Given the description of an element on the screen output the (x, y) to click on. 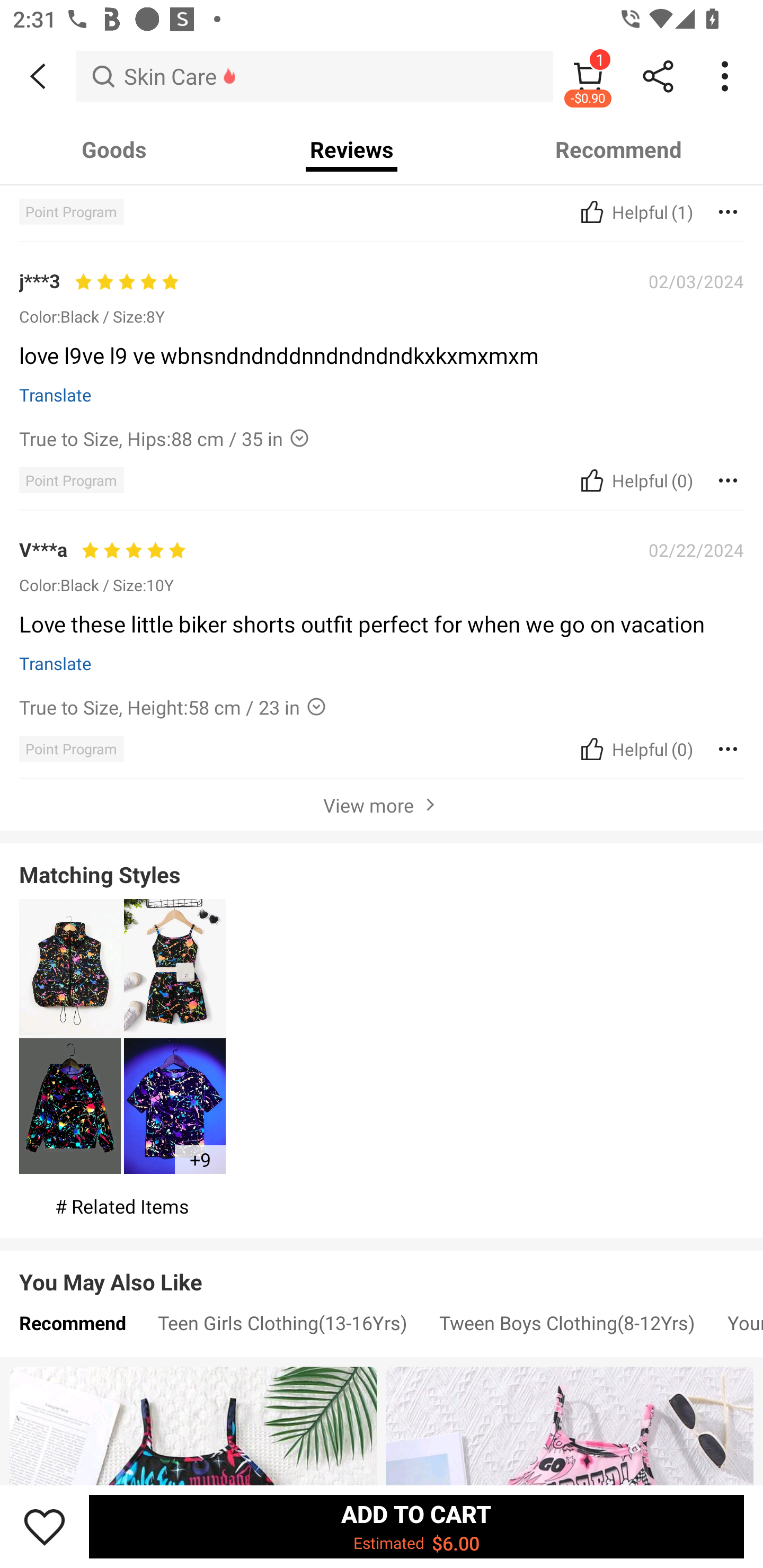
BACK (38, 75)
1 -$0.90 (588, 75)
Skin Care (314, 75)
Goods (114, 149)
Reviews (351, 149)
Recommend (618, 149)
Cancel Helpful Was this article helpful? (1) (634, 211)
Point Program (71, 211)
j***3 Rating5.0 02/03/2024 Color:Black / Size:8Y (381, 297)
love l9ve l9 ve wbnsndndnddnndndndndkxkxmxmxm (374, 361)
Translate (55, 394)
Cancel Helpful Was this article helpful? (0) (634, 480)
Point Program (71, 480)
V***a Rating5.0 02/22/2024 Color:Black / Size:10Y (381, 565)
Translate (55, 663)
Cancel Helpful Was this article helpful? (0) (634, 749)
Point Program (71, 748)
View more (381, 804)
Matching Styles +9 # Related Items (381, 1034)
+9 # Related Items (122, 1058)
You May Also Like (381, 1268)
Recommend (72, 1326)
Teen Girls Clothing(13-16Yrs) (282, 1326)
Tween Boys Clothing(8-12Yrs) (567, 1326)
ADD TO CART Estimated   $6.00 (416, 1526)
Save (44, 1526)
